Given the description of an element on the screen output the (x, y) to click on. 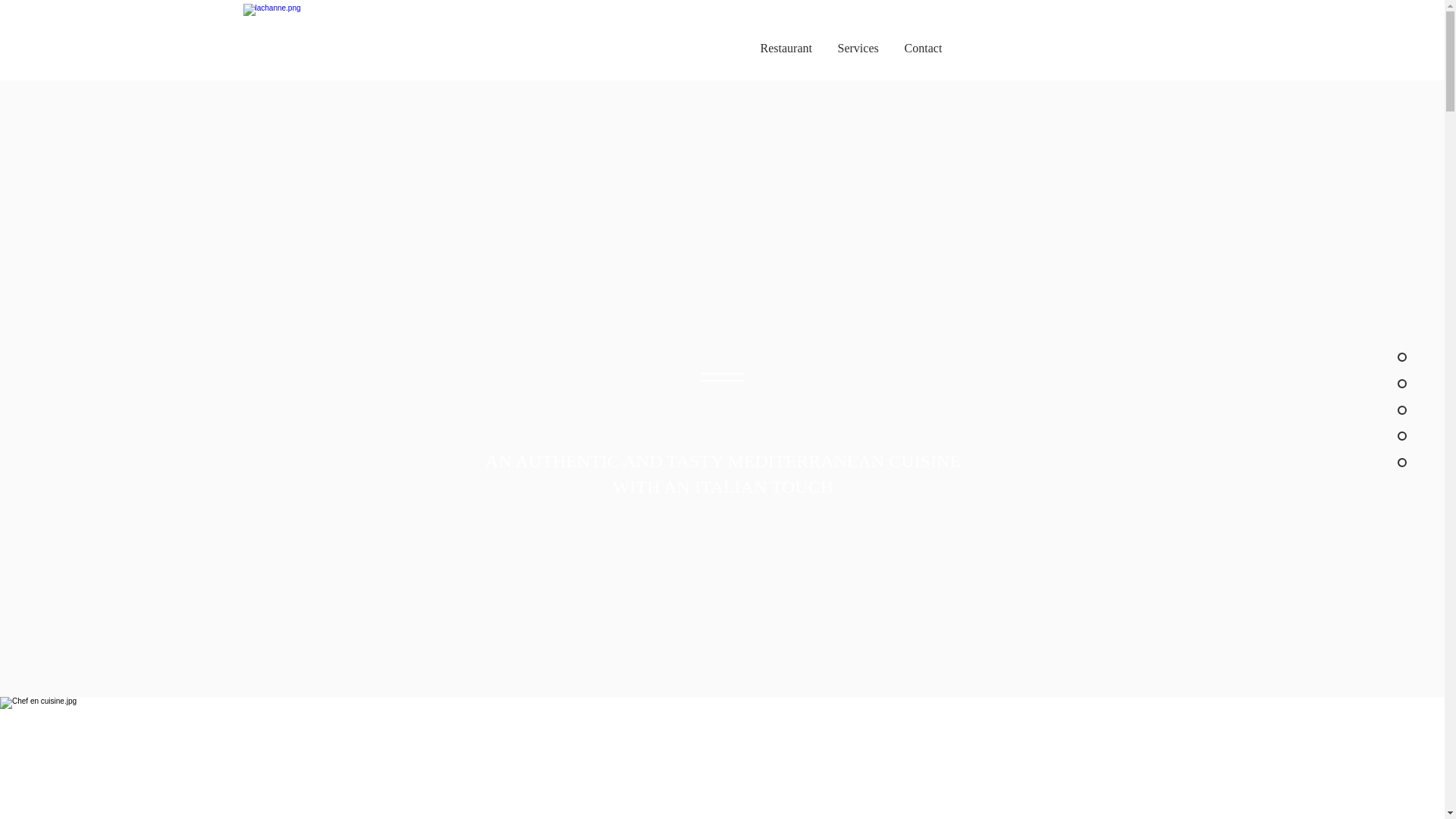
Restaurant (786, 48)
Contact (923, 48)
Services (858, 48)
